Given the description of an element on the screen output the (x, y) to click on. 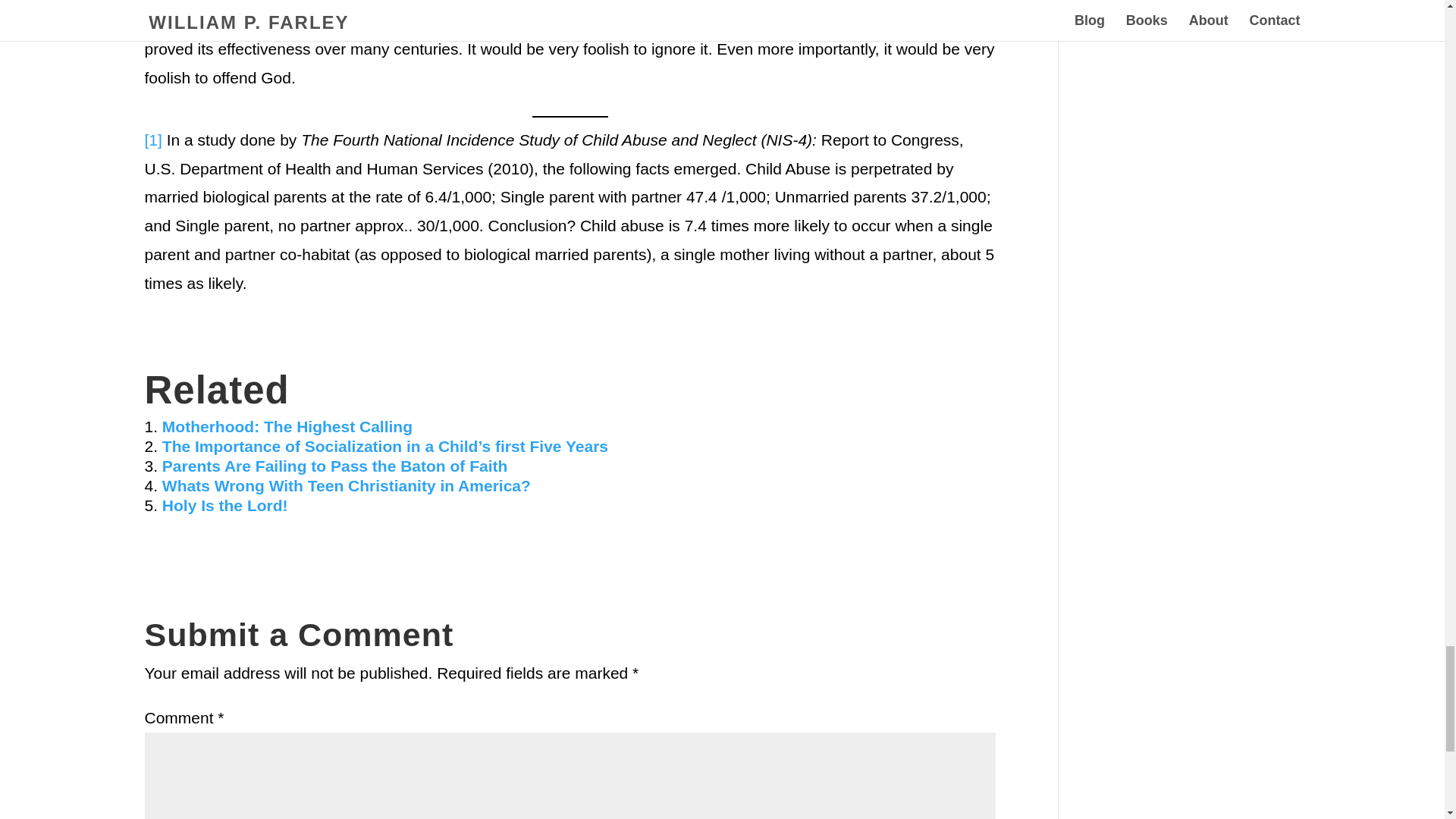
Parents Are Failing to Pass the Baton of Faith (333, 466)
Whats Wrong With Teen Christianity in America? (346, 485)
Motherhood: The Highest Calling (286, 425)
Whats Wrong With Teen Christianity in America? (346, 485)
Holy Is the Lord! (224, 505)
Motherhood: The Highest Calling (286, 425)
Parents Are Failing to Pass the Baton of Faith (333, 466)
Holy Is the Lord! (224, 505)
